Given the description of an element on the screen output the (x, y) to click on. 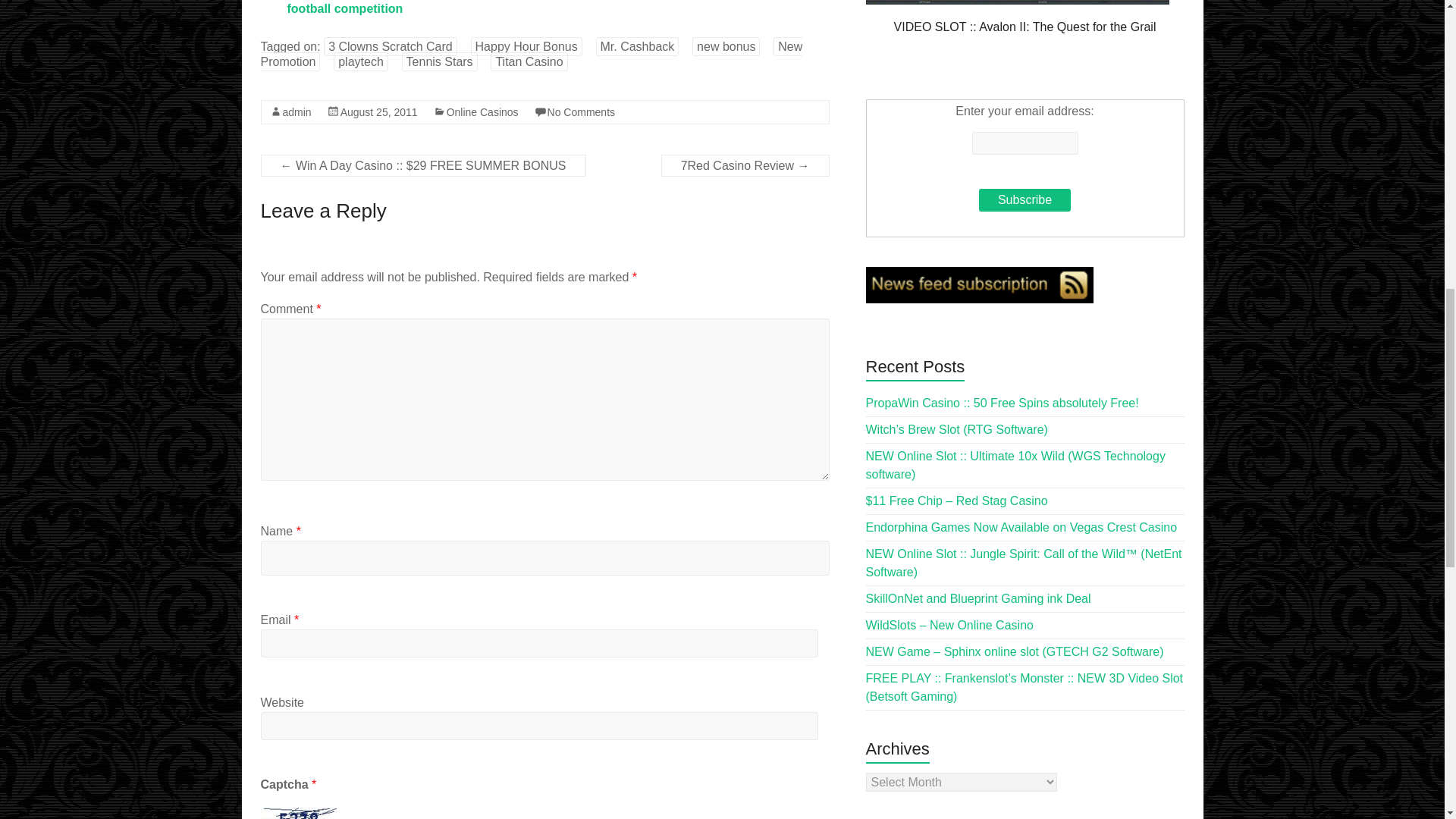
playtech (360, 61)
9:29 pm (378, 111)
new bonus (726, 46)
No Comments (580, 111)
Happy Hour Bonus (526, 46)
Mr. Cashback (637, 46)
Subscribe (1024, 200)
3 Clowns Scratch Card (390, 46)
Titan Casino (528, 61)
Tennis Stars (439, 61)
Online Casinos (482, 111)
New Promotion (531, 53)
admin (296, 111)
August 25, 2011 (378, 111)
